Given the description of an element on the screen output the (x, y) to click on. 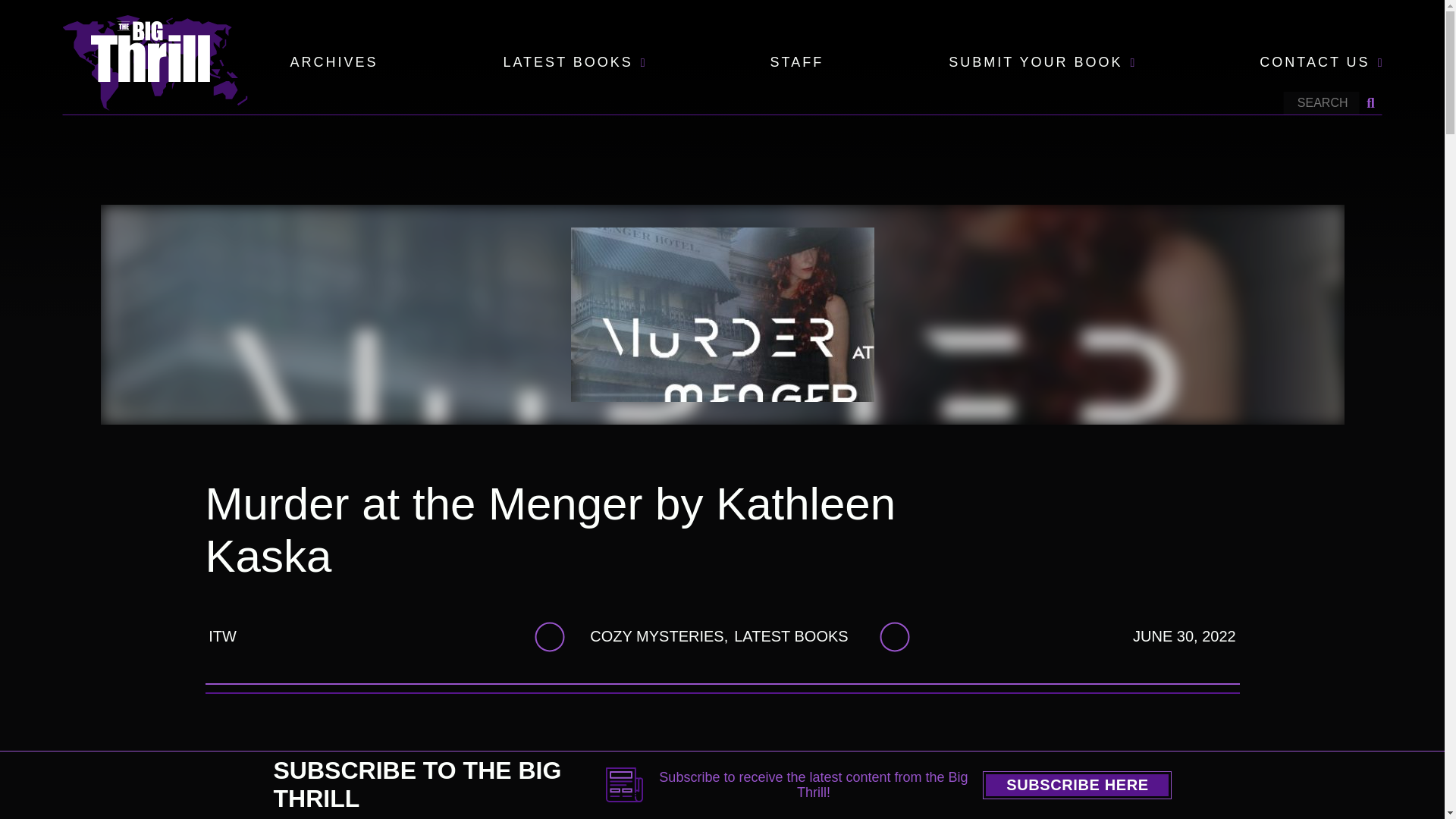
LATEST BOOKS (566, 62)
SUBMIT YOUR BOOK (1035, 62)
CONTACT US (1314, 62)
ARCHIVES (333, 62)
STAFF (797, 62)
